Given the description of an element on the screen output the (x, y) to click on. 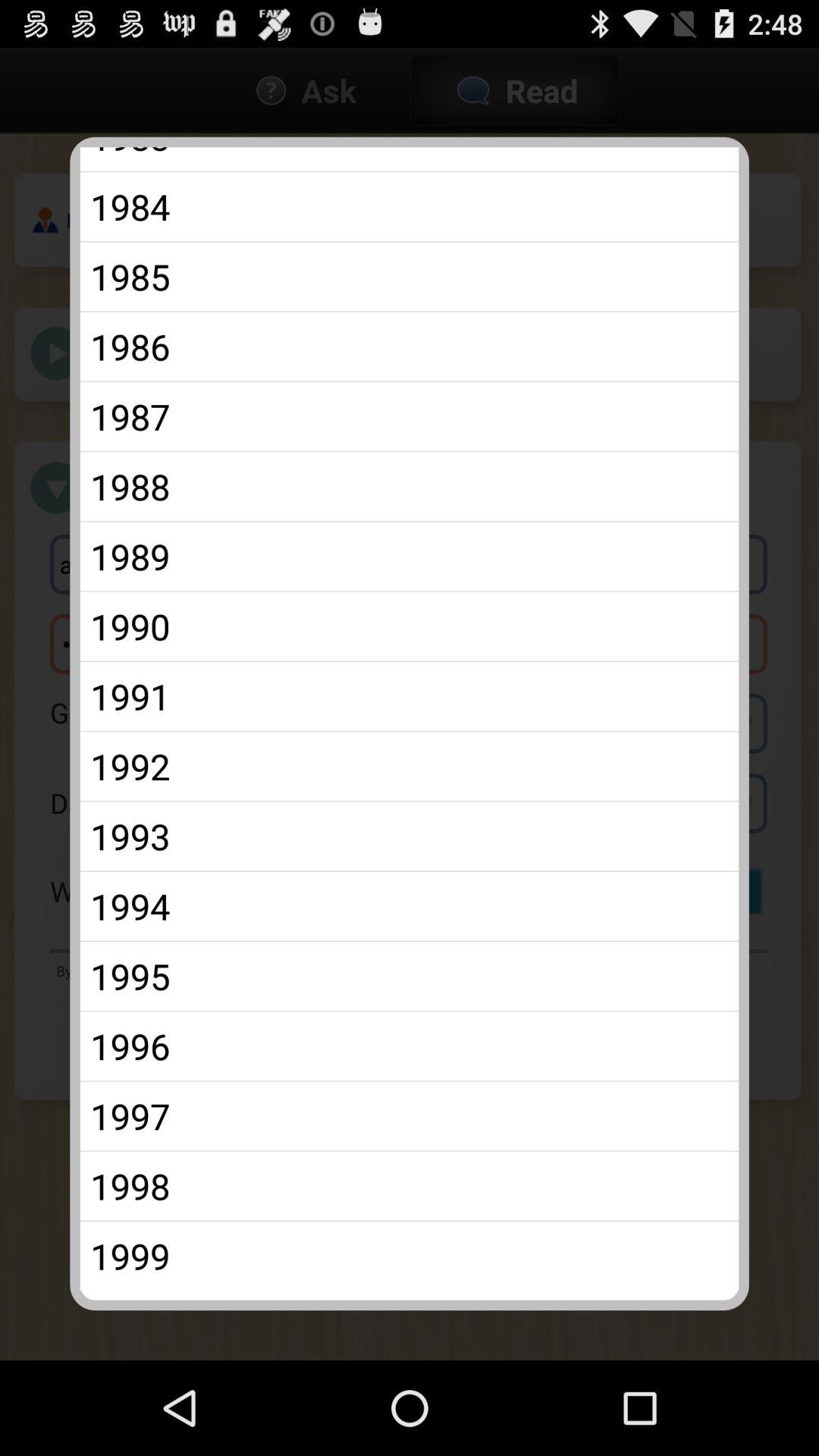
tap the app above 1996 item (409, 975)
